Given the description of an element on the screen output the (x, y) to click on. 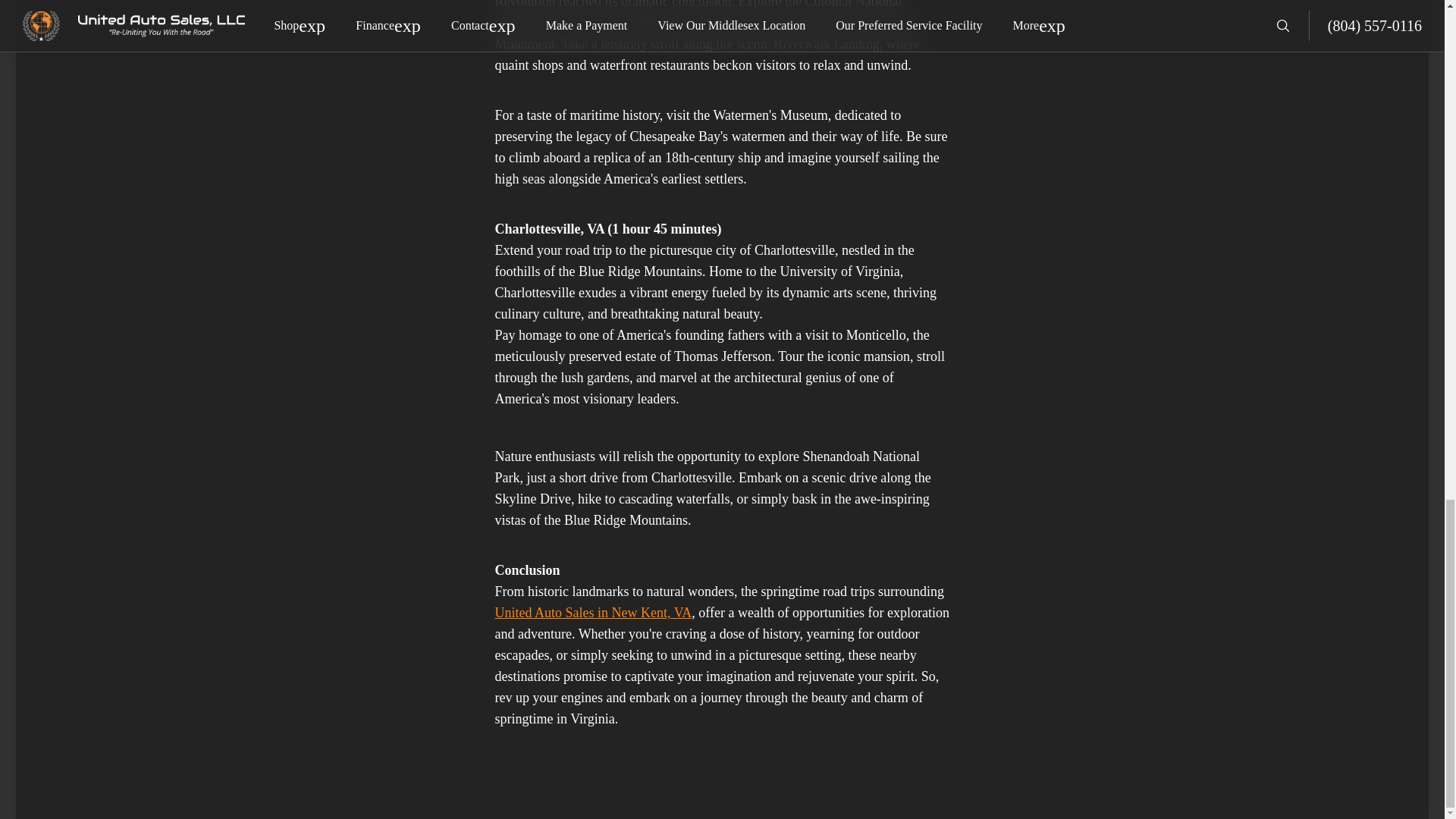
United Auto Sales in New Kent, VA (593, 612)
